Given the description of an element on the screen output the (x, y) to click on. 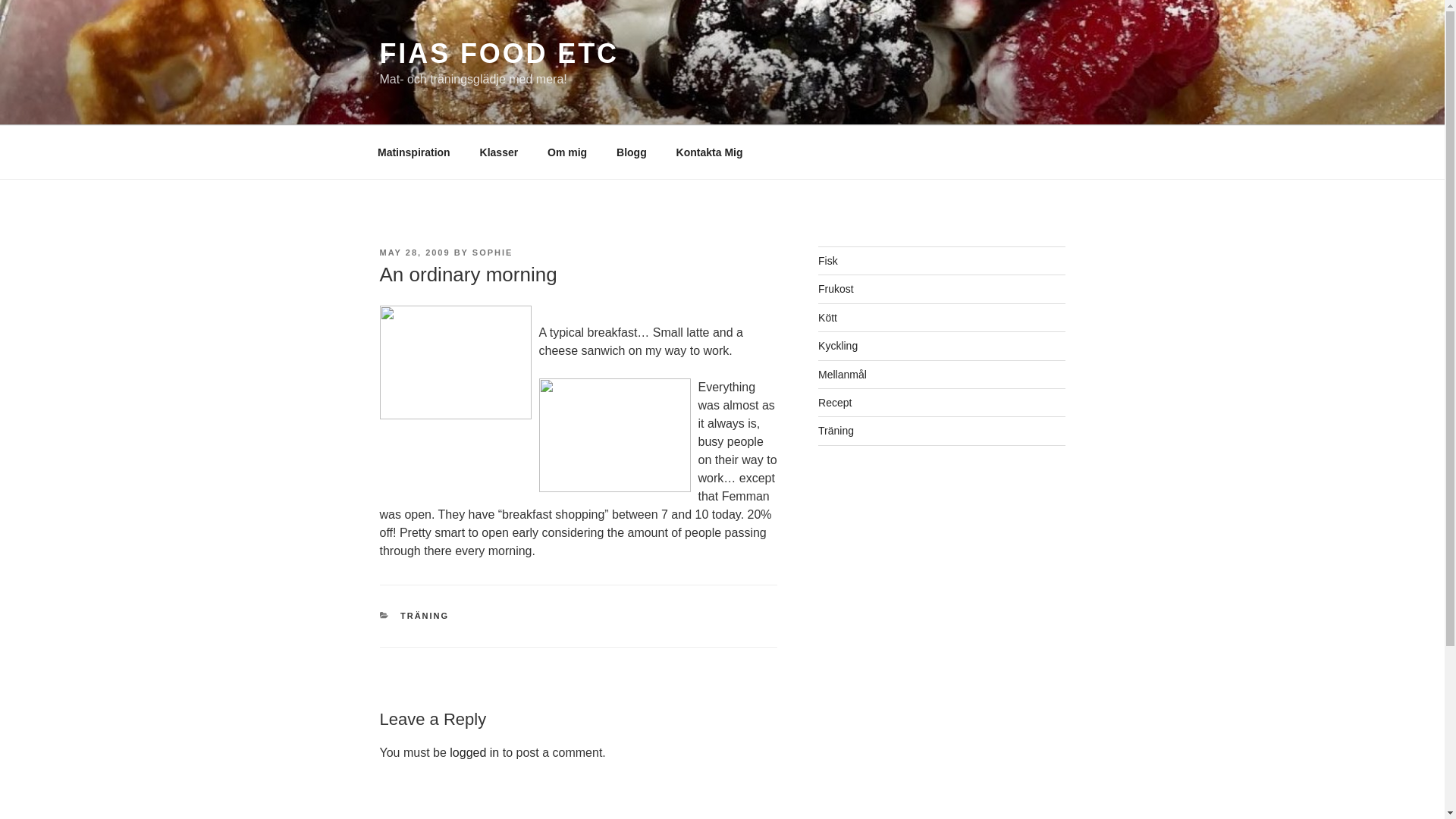
Om mig (566, 151)
FIAS FOOD ETC (497, 52)
Blogg (632, 151)
Matinspiration (413, 151)
Recept (834, 402)
SOPHIE (492, 252)
Frukost (835, 288)
Kyckling (837, 345)
Kontakta Mig (708, 151)
logged in (474, 752)
Klasser (498, 151)
Fisk (828, 260)
MAY 28, 2009 (413, 252)
